Given the description of an element on the screen output the (x, y) to click on. 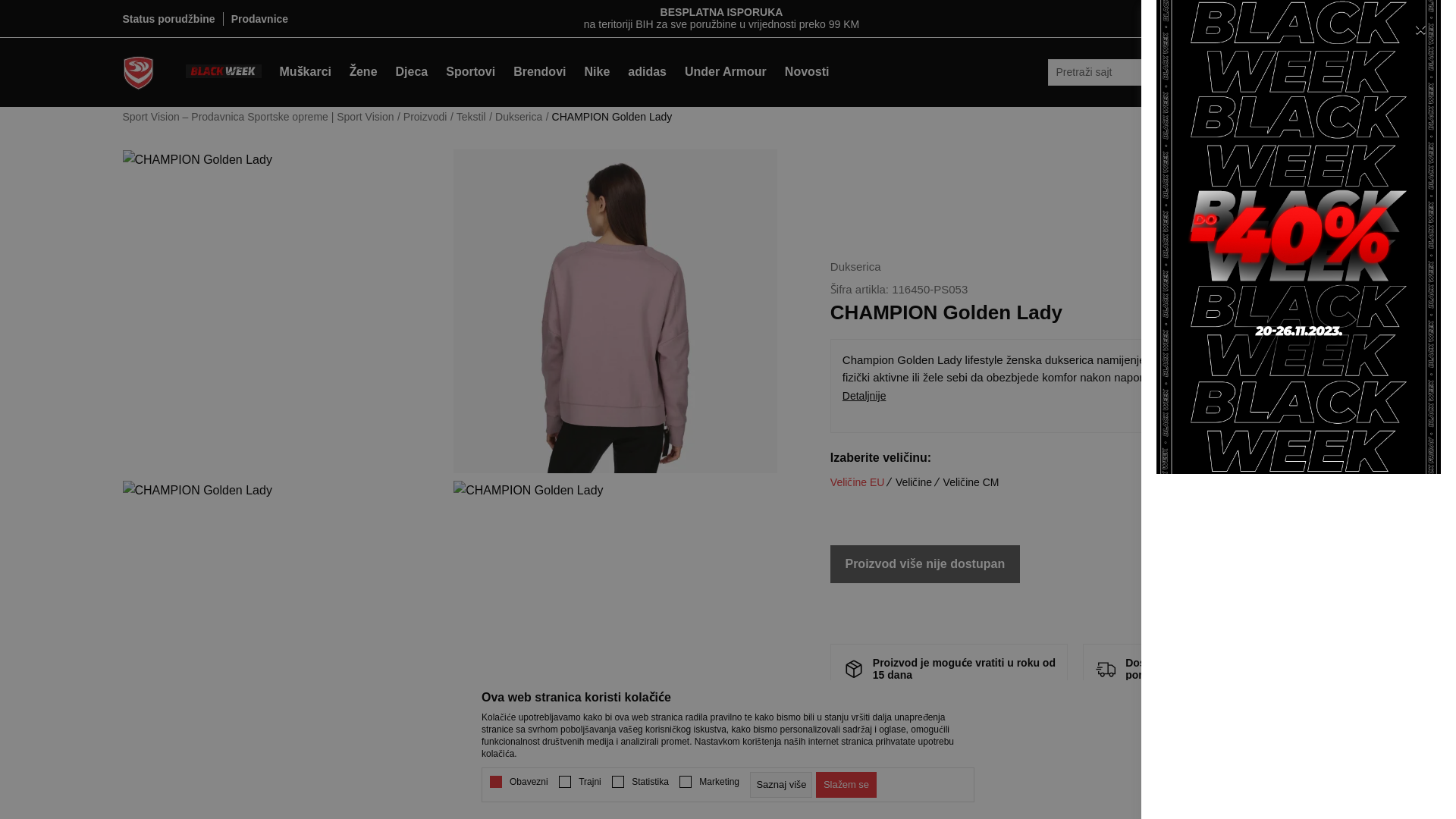
Novosti Element type: text (806, 71)
Advertisement popup Element type: hover (1298, 235)
Detaljnije Element type: text (1075, 395)
CHAMPION Element type: hover (1282, 301)
0 Element type: text (1266, 71)
  Element type: hover (853, 667)
  Element type: hover (1106, 667)
Sportovi Element type: text (470, 71)
Under Armour Element type: text (725, 71)
POZOVITE NAS NA : 055/490-400 Element type: text (721, 12)
Nike Element type: text (596, 71)
Dukserica Element type: text (855, 266)
Prodavnice Element type: text (259, 18)
Dukserica Element type: text (518, 116)
adidas Element type: text (646, 71)
Tekstil Element type: text (471, 116)
Prijavite se Element type: text (1206, 18)
Djeca Element type: text (411, 71)
Registrujte se Element type: text (1281, 18)
O proizvodu Element type: text (1075, 742)
Brendovi Element type: text (539, 71)
CHAMPION Element type: hover (1282, 302)
Proizvodi Element type: text (425, 116)
